Given the description of an element on the screen output the (x, y) to click on. 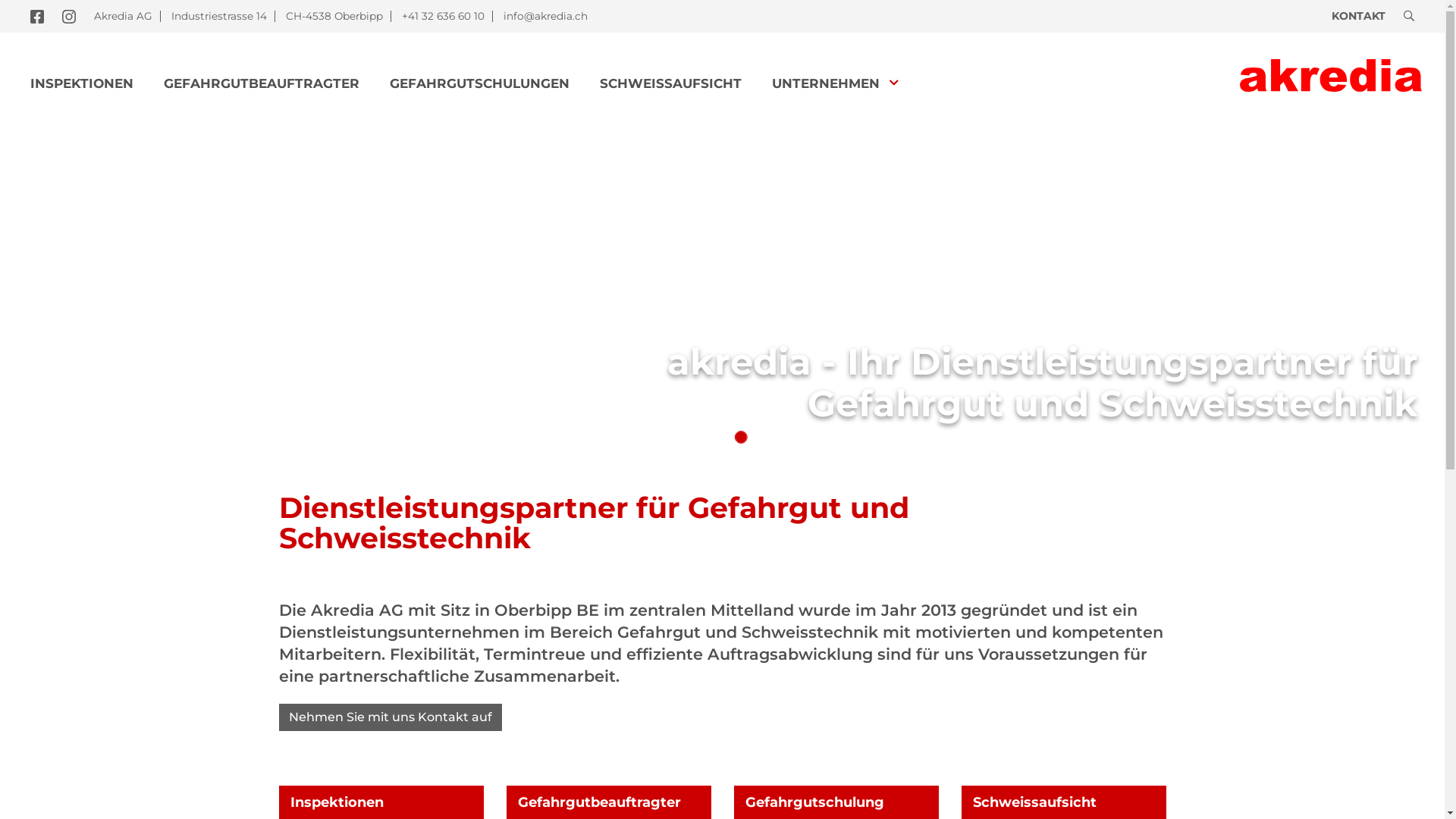
KONTAKT Element type: text (1358, 15)
UNTERNEHMEN Element type: text (834, 84)
info@akredia.ch Element type: text (545, 15)
Nehmen Sie mit uns Kontakt auf Element type: text (390, 717)
+41 32 636 60 10 Element type: text (442, 15)
SCHWEISSAUFSICHT Element type: text (670, 84)
GEFAHRGUTBEAUFTRAGTER Element type: text (261, 84)
GEFAHRGUTSCHULUNGEN Element type: text (479, 84)
INSPEKTIONEN Element type: text (81, 84)
